Given the description of an element on the screen output the (x, y) to click on. 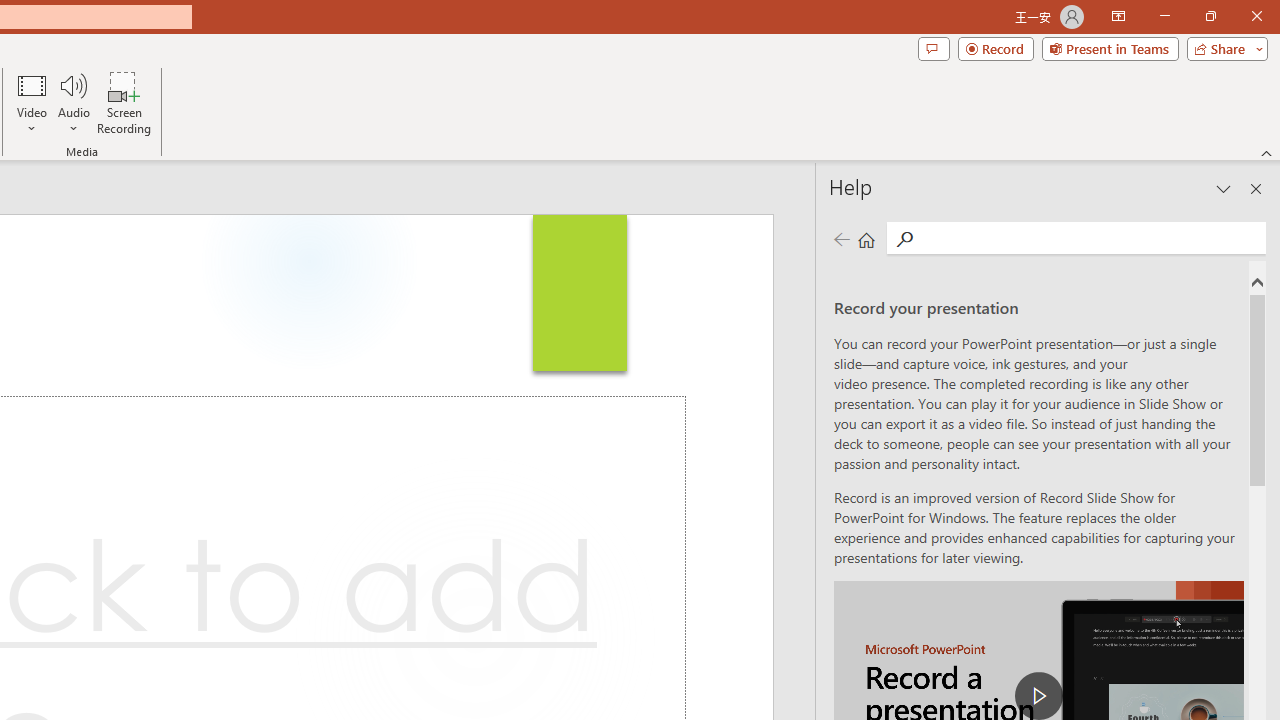
Video (31, 102)
